Given the description of an element on the screen output the (x, y) to click on. 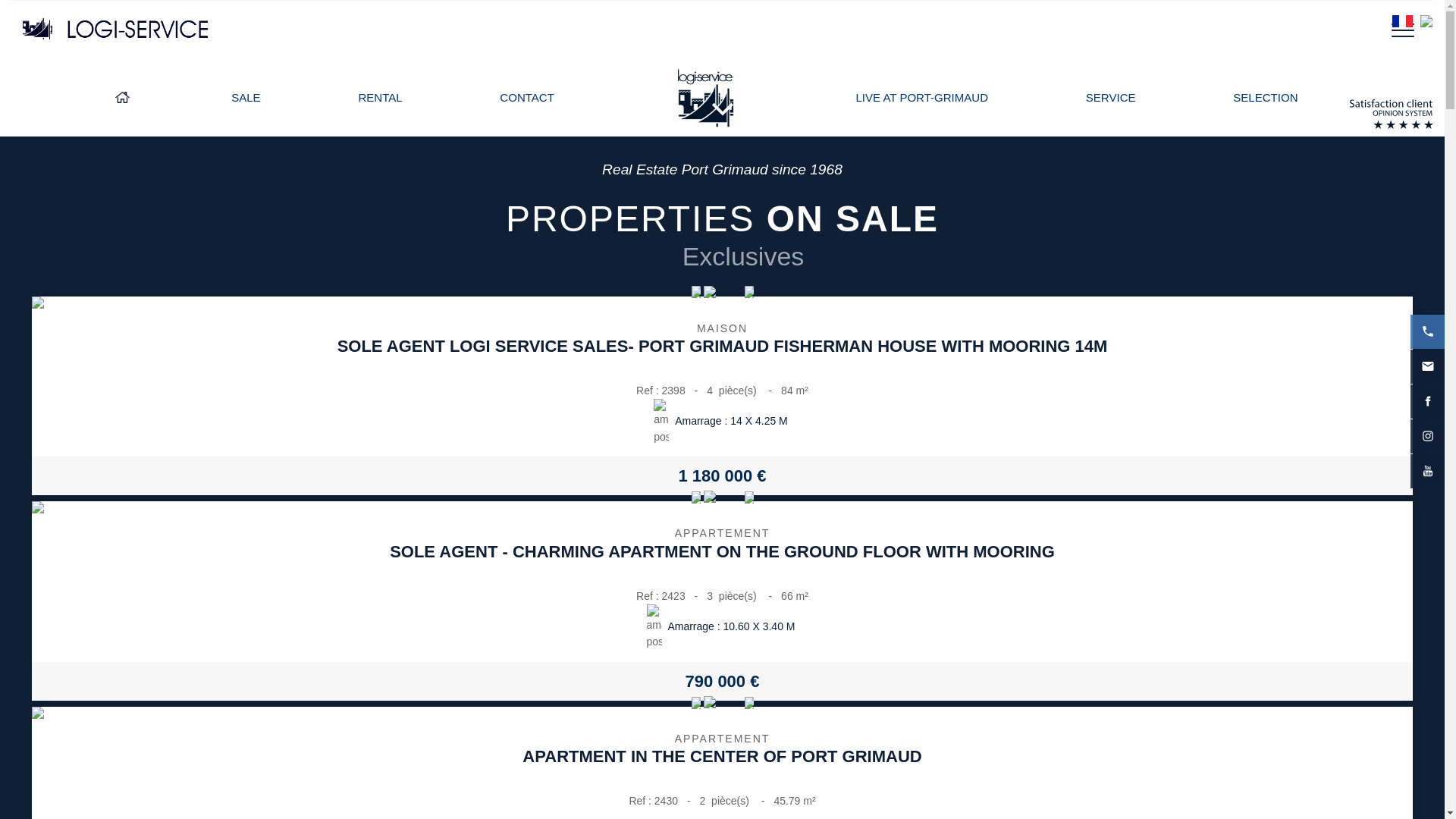
SALE (245, 97)
SELECTION (1253, 97)
Rental (379, 97)
LIVE AT PORT-GRIMAUD (921, 97)
Service (1110, 97)
Live at Port-Grimaud (921, 97)
Selection (1253, 97)
SERVICE (1110, 97)
RENTAL (379, 97)
CONTACT (526, 97)
Sale real estate (245, 97)
Contact (526, 97)
